Given the description of an element on the screen output the (x, y) to click on. 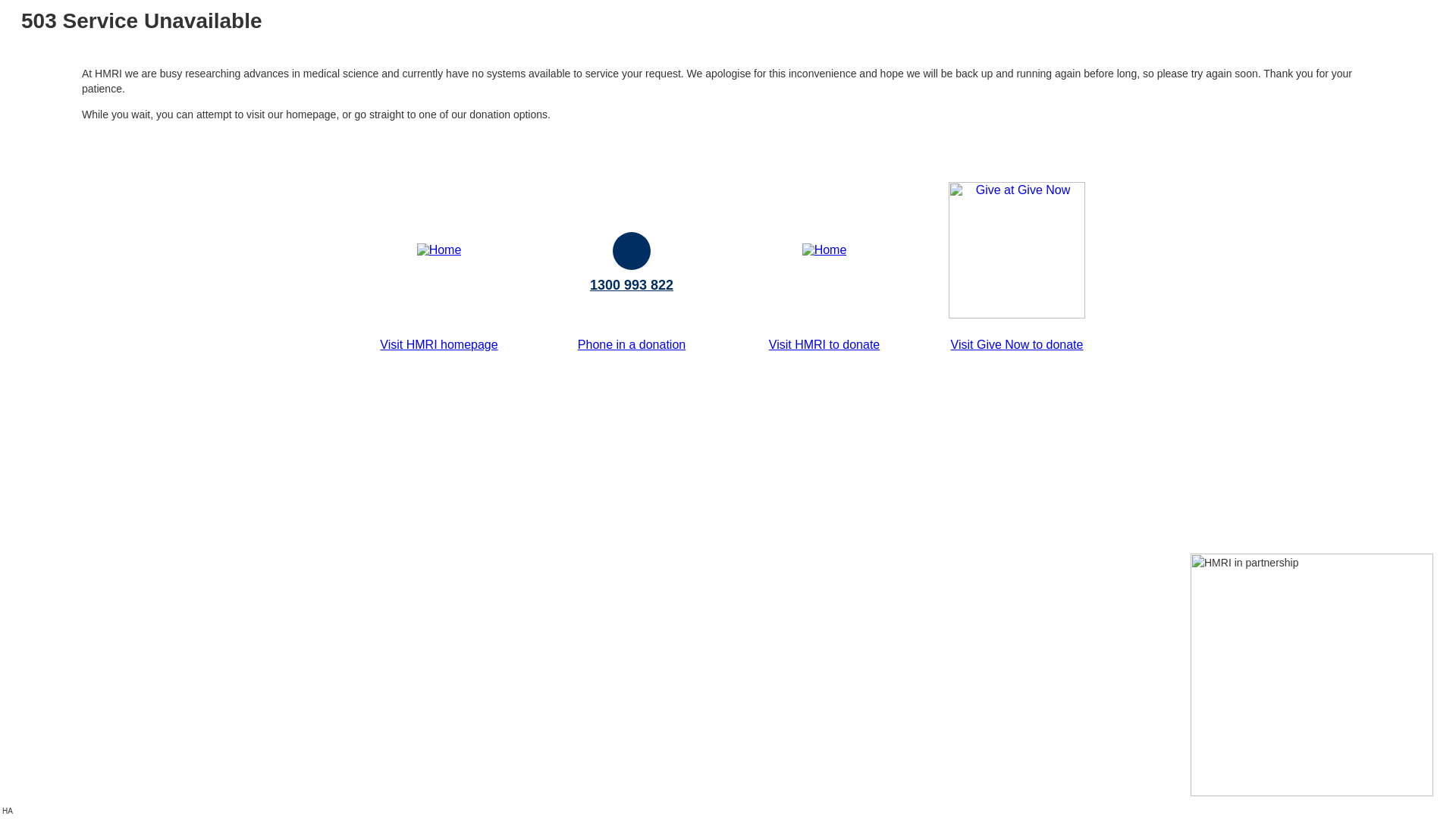
Visit HMRI to donate Element type: text (823, 344)
Visit Give Now to donate Element type: text (1016, 344)
Visit HMRI homepage Element type: text (438, 344)
Phone in a donation Element type: text (631, 344)
Donate with Give Now Element type: hover (1016, 313)
Home Element type: hover (439, 249)
Home Element type: hover (824, 249)
1300 993 822 Element type: text (631, 285)
